Given the description of an element on the screen output the (x, y) to click on. 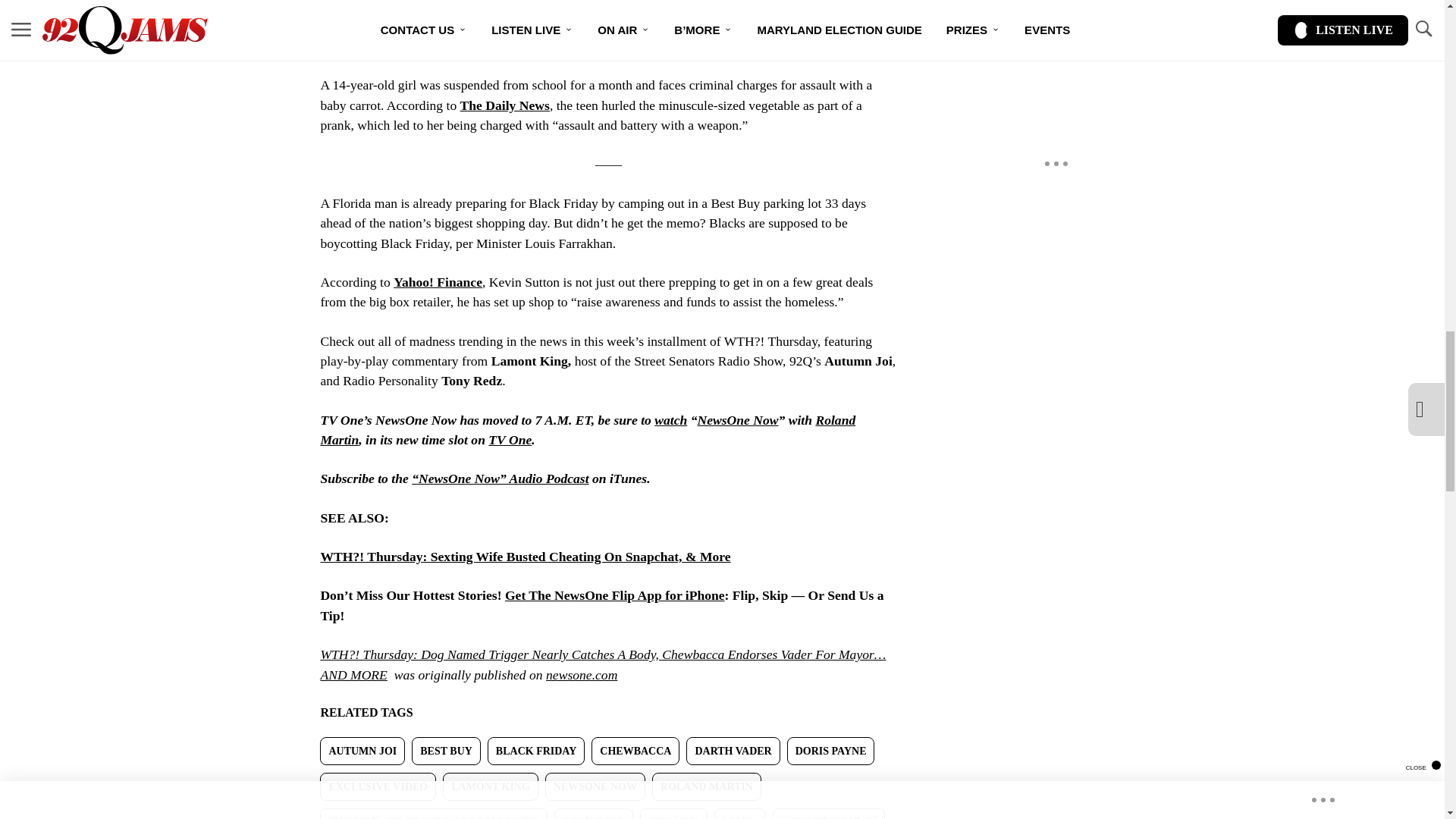
NewsOne Now with Roland Martin (670, 419)
NewsOne Now Audio Podcast (500, 478)
NewsOne Now with Roland Martin on TV One (509, 439)
NewsOne Now with Roland Martin (737, 419)
